Given the description of an element on the screen output the (x, y) to click on. 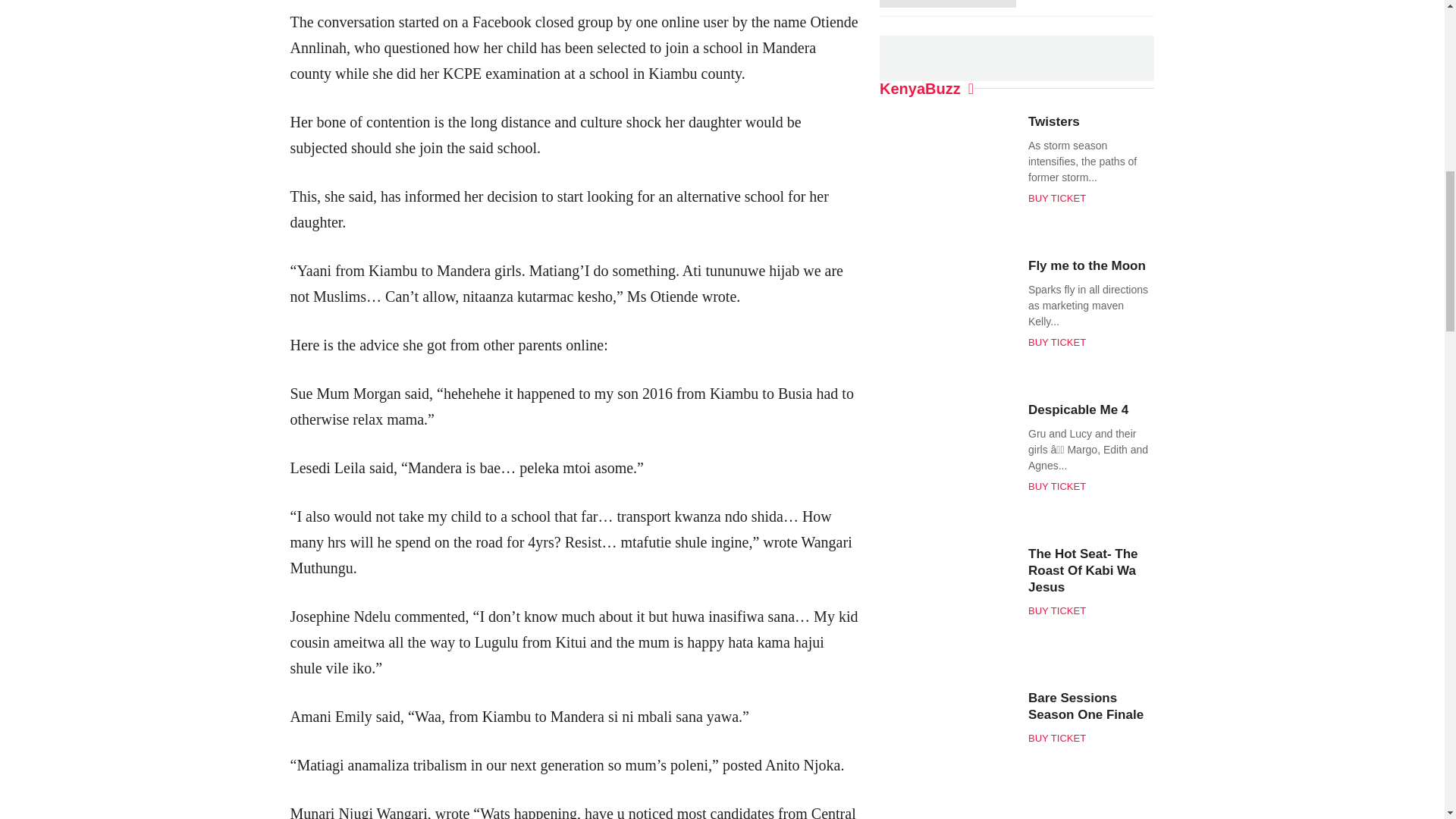
Twitter (708, 49)
Facebook (681, 49)
